Given the description of an element on the screen output the (x, y) to click on. 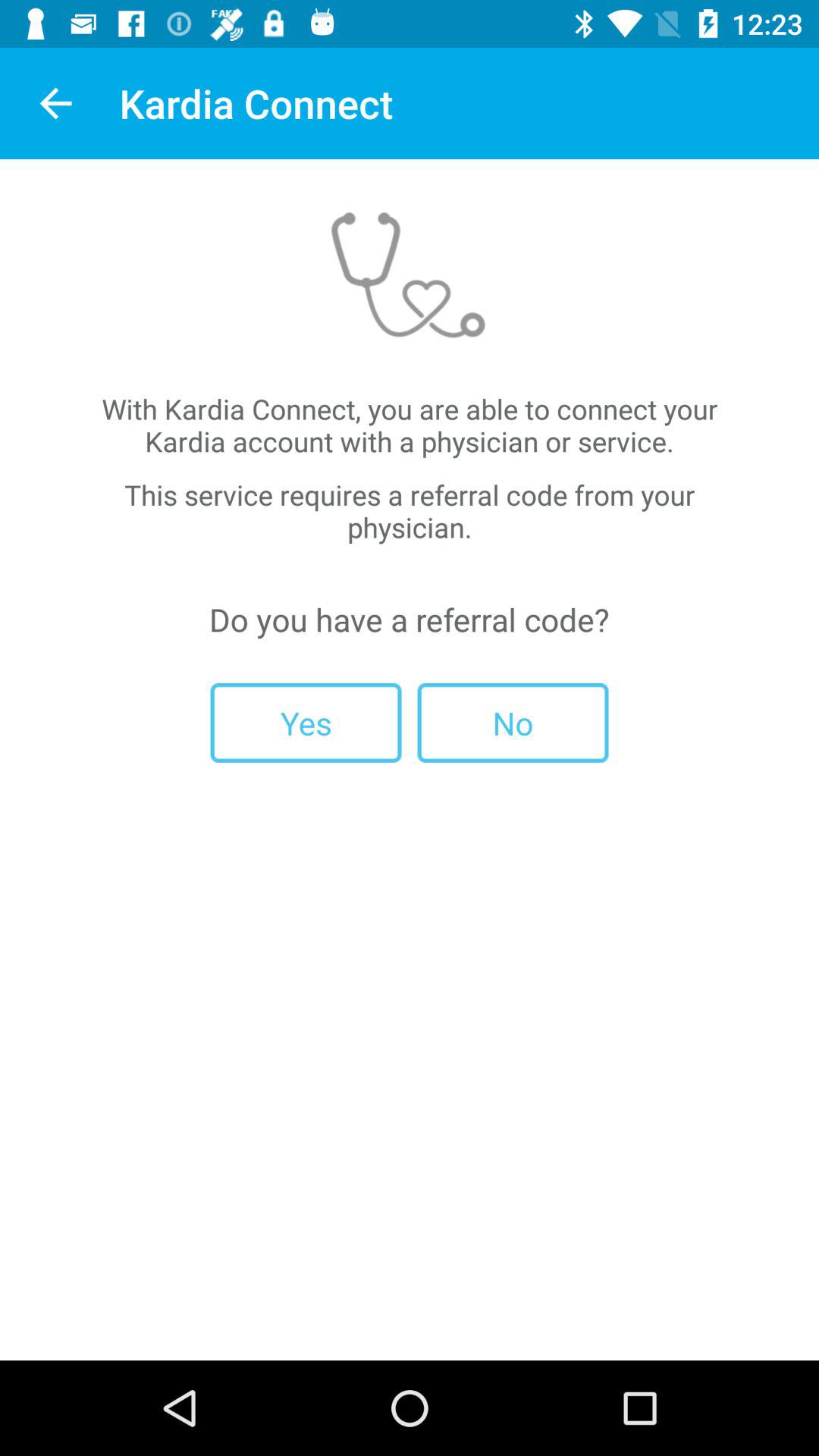
choose no item (512, 722)
